Given the description of an element on the screen output the (x, y) to click on. 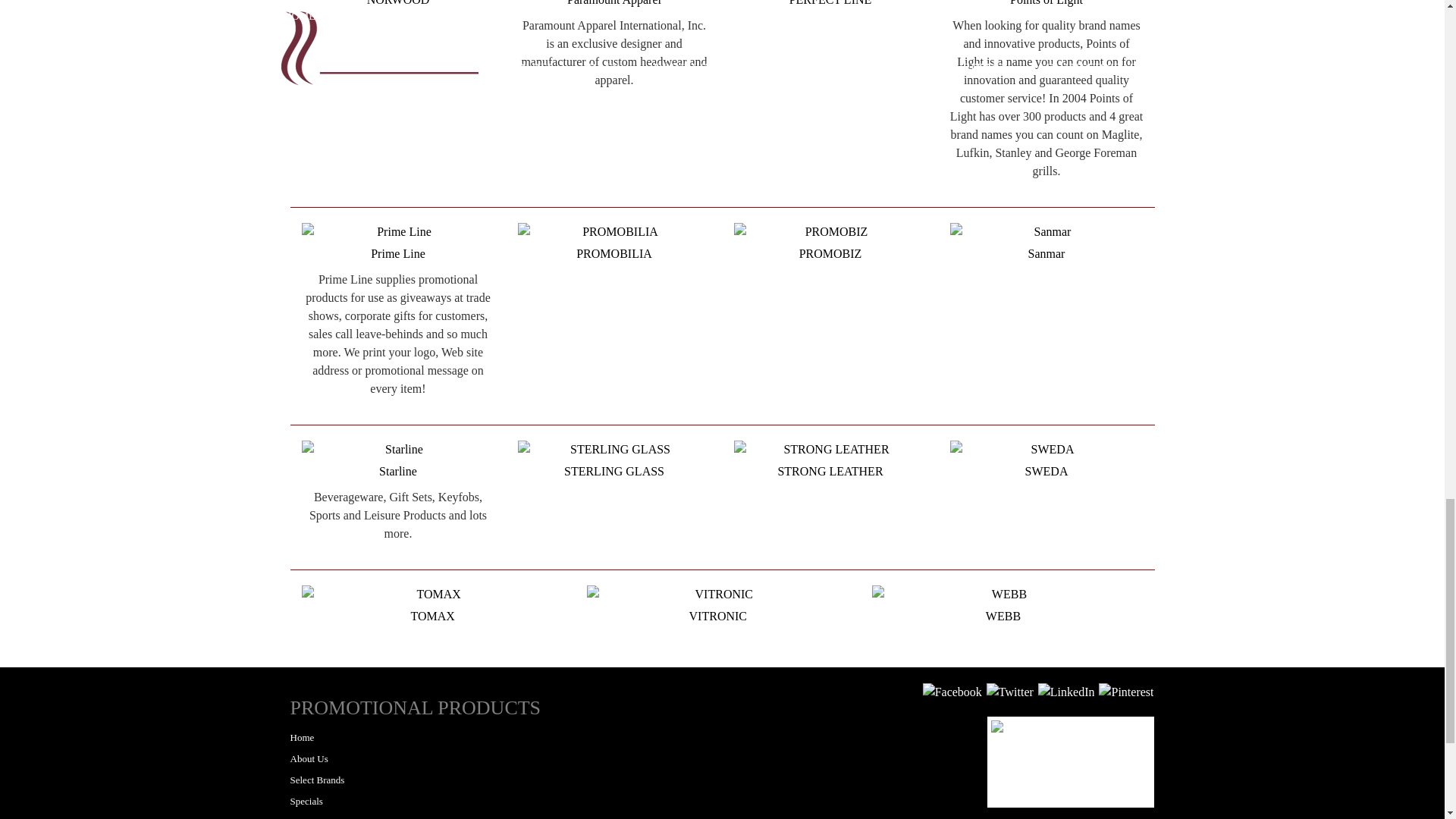
Visit us on Pinterest (1126, 690)
Click for a larger map (1070, 761)
Visit us on LinkedIn (1066, 690)
Visit us on Twitter (1010, 690)
Visit us on Facebook (952, 690)
